Given the description of an element on the screen output the (x, y) to click on. 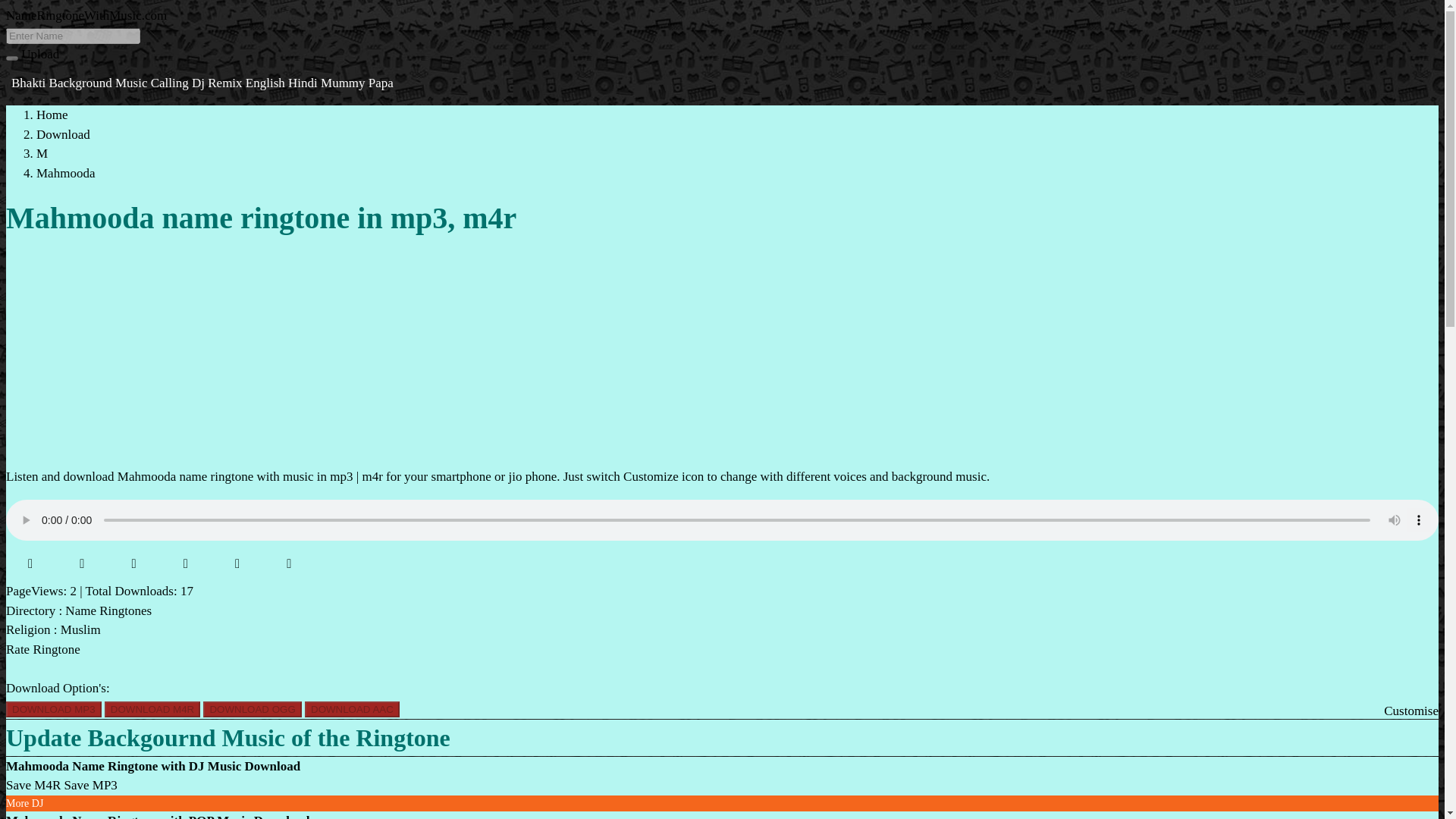
DOWNLOAD M4R (152, 709)
More DJ (24, 803)
NameRingtoneWithMusic.com (86, 15)
Save M4R (33, 785)
Mummy Papa (356, 83)
fdmr (86, 15)
Background Music (100, 83)
DOWNLOAD OGG (252, 709)
Save MP3 (90, 785)
Hindi (304, 83)
English (267, 83)
Home (52, 114)
DJ mobile ringtones (24, 803)
Bhakti (30, 83)
